Given the description of an element on the screen output the (x, y) to click on. 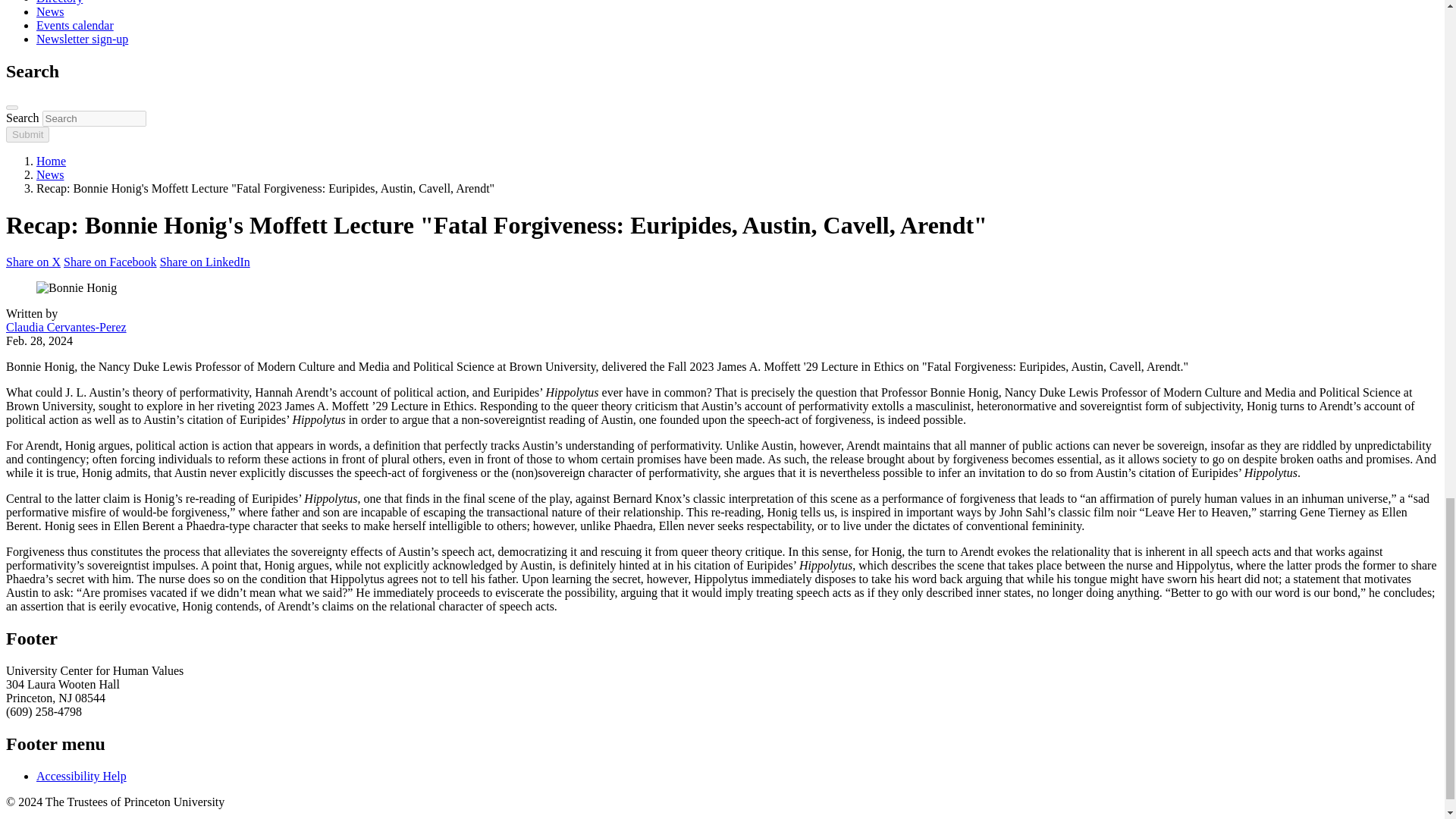
Submit (27, 133)
